Given the description of an element on the screen output the (x, y) to click on. 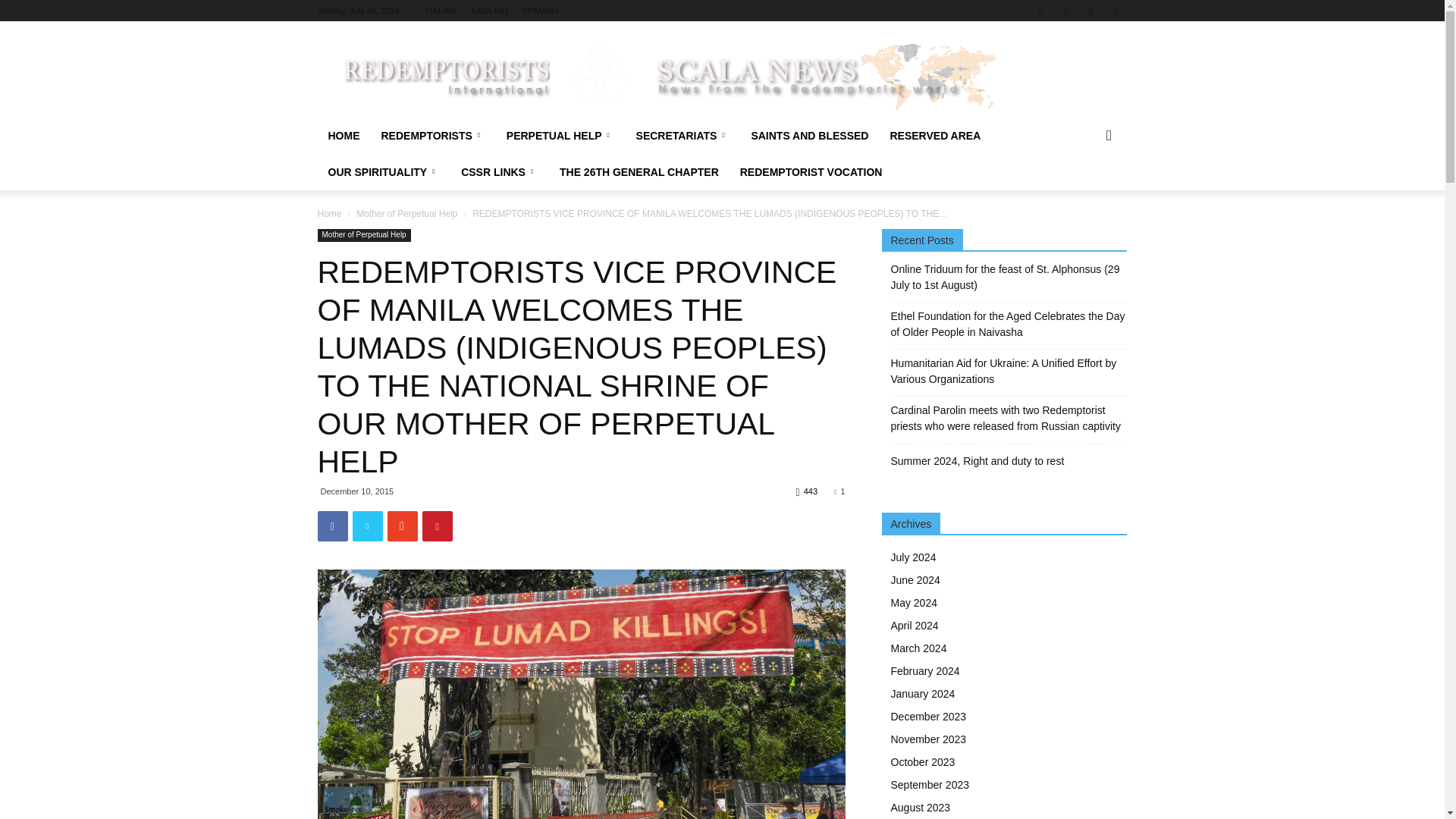
Youtube (1114, 10)
Flickr (1065, 10)
Philippines (580, 694)
Facebook (1040, 10)
Twitter (1090, 10)
View all posts in Mother of Perpetual Help (406, 213)
